Given the description of an element on the screen output the (x, y) to click on. 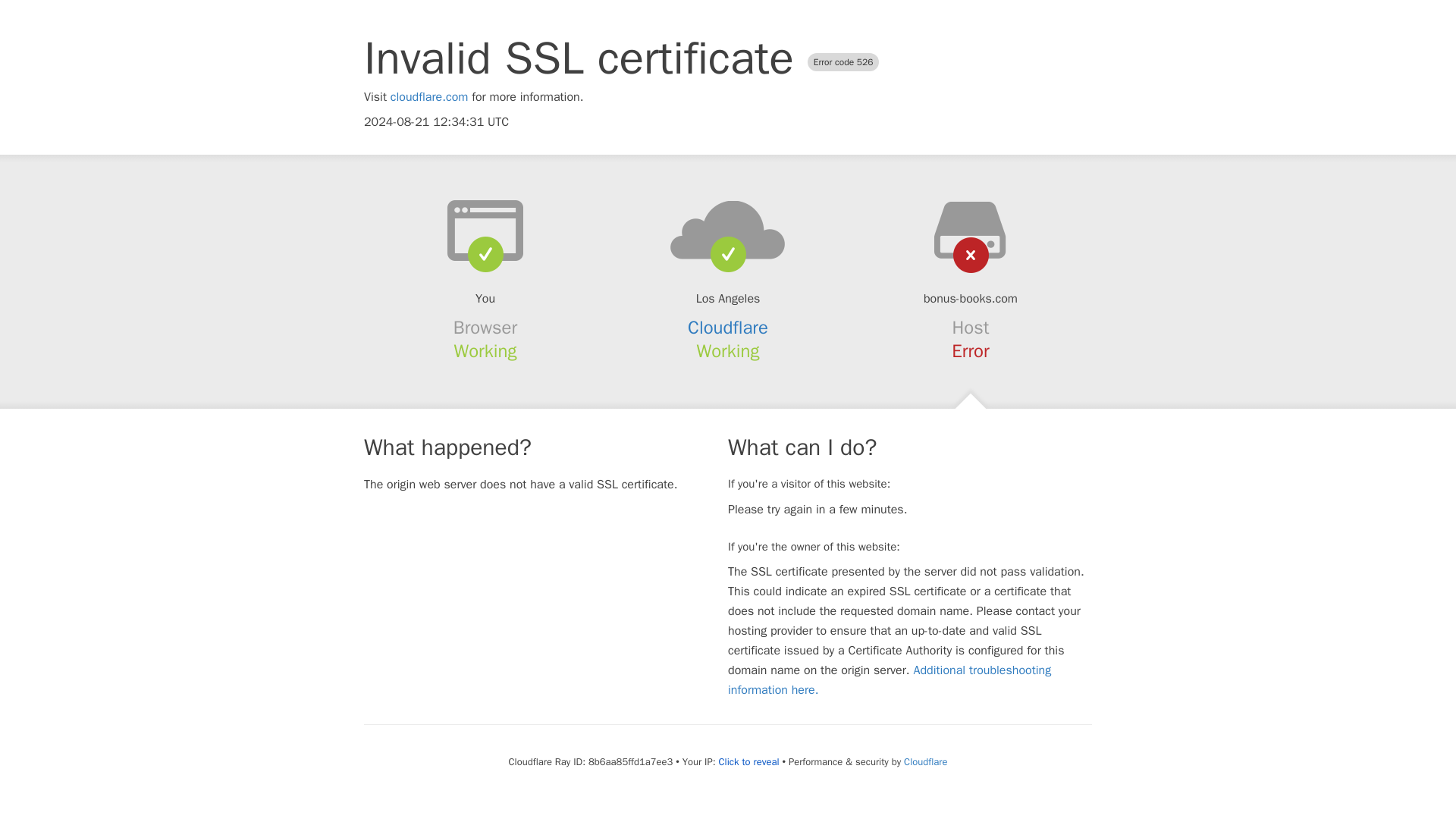
Cloudflare (925, 761)
cloudflare.com (429, 96)
Click to reveal (748, 762)
Additional troubleshooting information here. (889, 679)
Cloudflare (727, 327)
